Given the description of an element on the screen output the (x, y) to click on. 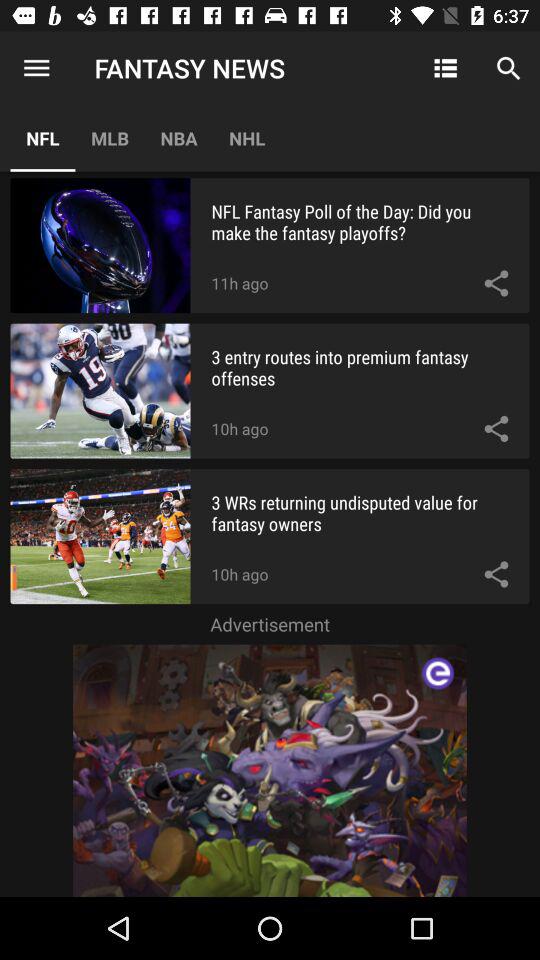
image clicking option (269, 770)
